Given the description of an element on the screen output the (x, y) to click on. 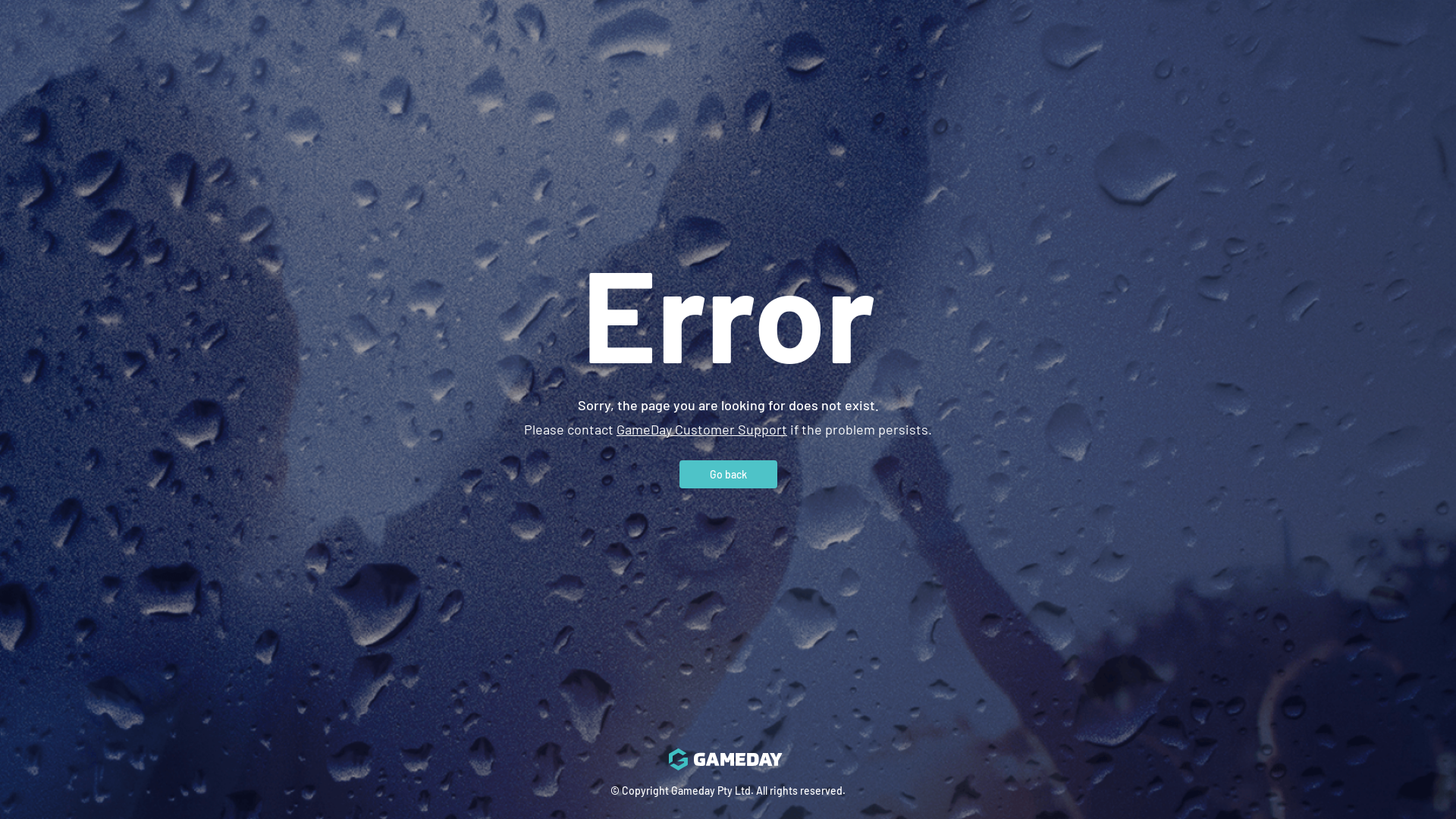
GameDay Customer Support Element type: text (701, 428)
Go back Element type: text (728, 473)
